Given the description of an element on the screen output the (x, y) to click on. 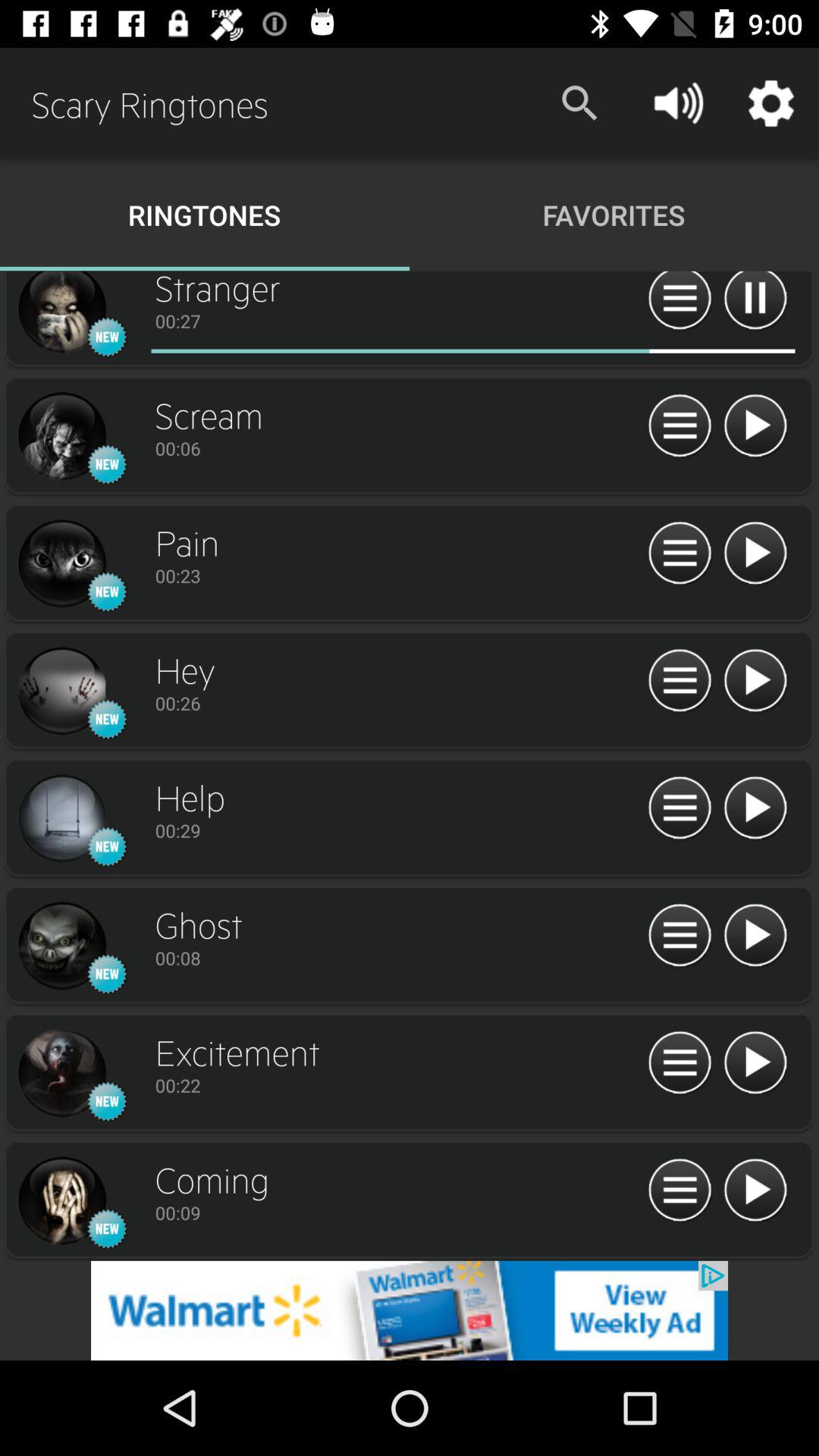
go to profile (61, 314)
